Given the description of an element on the screen output the (x, y) to click on. 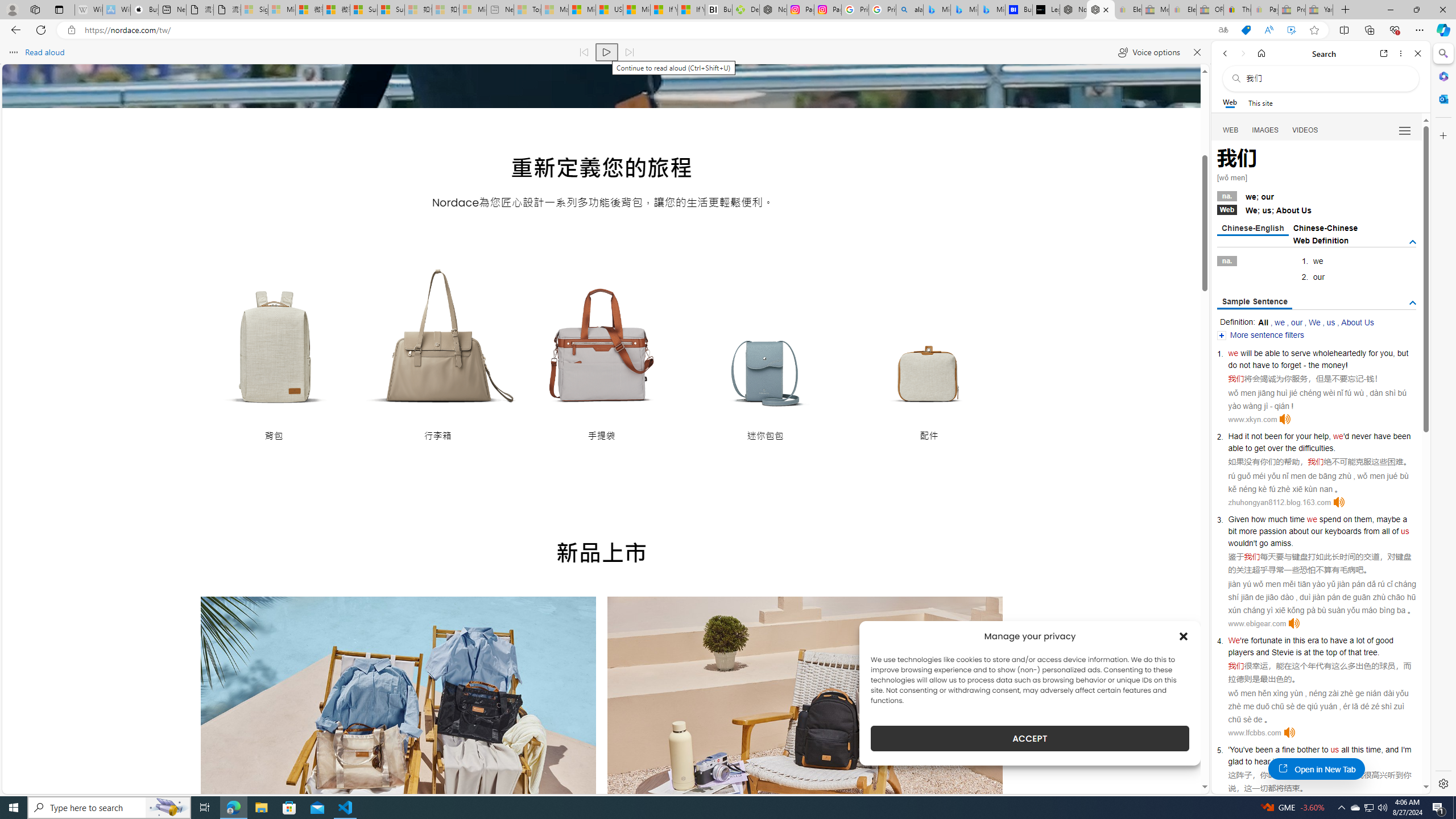
going (1294, 760)
the (1290, 447)
About Us (1357, 322)
Close read aloud (1196, 52)
not (1256, 435)
You (1236, 749)
amiss (1280, 542)
but (1402, 352)
